Given the description of an element on the screen output the (x, y) to click on. 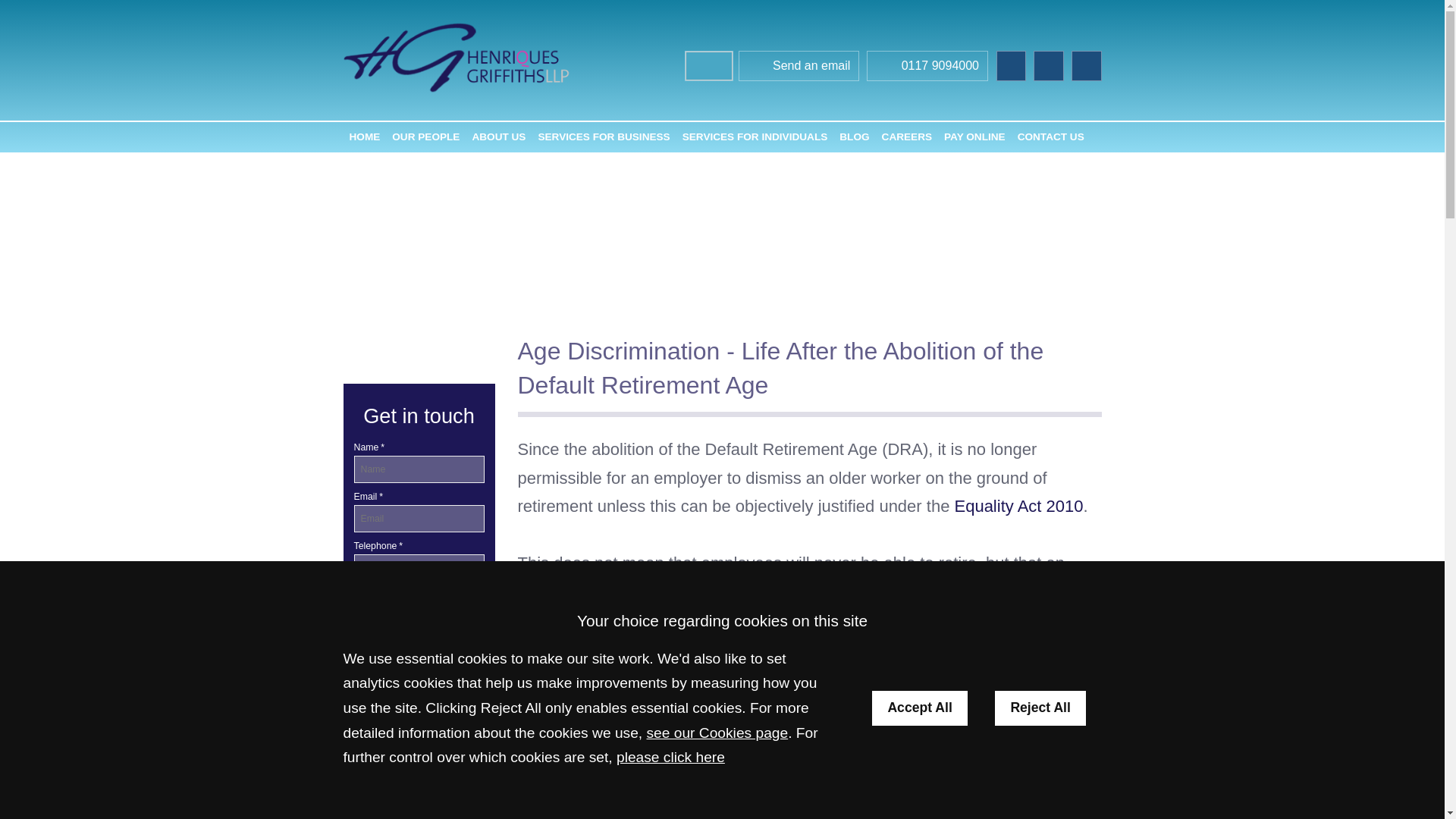
SERVICES FOR BUSINESS (603, 137)
0117 9094000 (927, 67)
CAREERS (906, 137)
ABOUT US (498, 137)
Employment and HR (418, 727)
Send question (419, 615)
CONTACT US (1050, 137)
IP and IT (418, 794)
General (418, 761)
SERVICES FOR INDIVIDUALS (755, 137)
Send question (419, 615)
Landlord, Tenant and Property (418, 815)
OUR PEOPLE (425, 137)
PAY ONLINE (974, 137)
Commercial Client (396, 693)
